Given the description of an element on the screen output the (x, y) to click on. 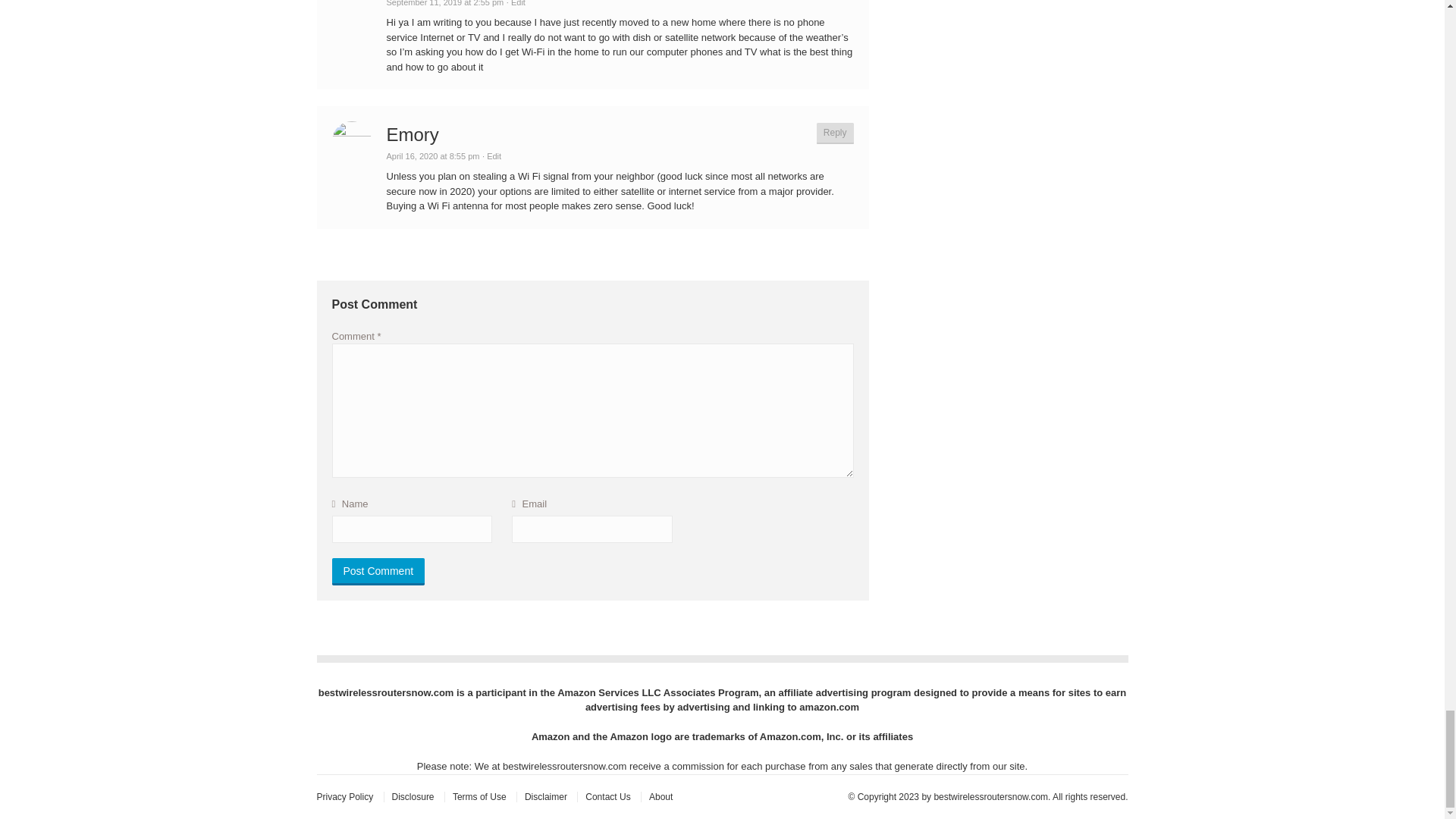
Post Comment (378, 571)
Edit Comment (515, 3)
Thursday, April 16, 2020, 8:55 pm (433, 155)
Edit Comment (490, 155)
Wednesday, September 11, 2019, 2:55 pm (445, 3)
